Given the description of an element on the screen output the (x, y) to click on. 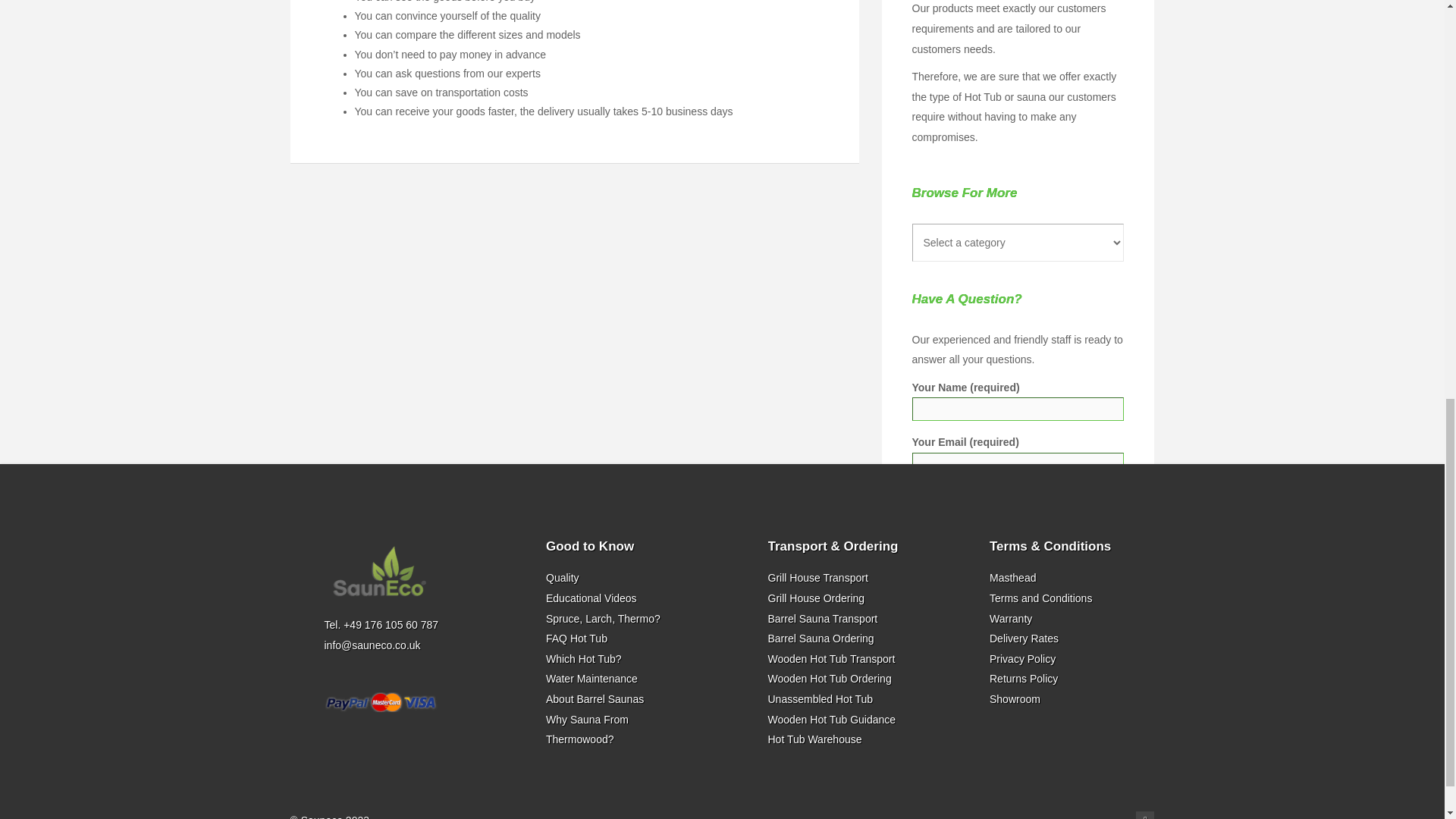
Barrel Sauna Transport (822, 618)
Educational Videos (591, 598)
About Barrel Saunas (594, 698)
email (1144, 815)
Grill House Ordering (815, 598)
Send (940, 747)
Wooden Hot Tub Transport (831, 658)
Spruce, Larch, Thermo? (603, 618)
Grill House Transport (817, 577)
Wooden Hot Tub Guidance (831, 719)
Wooden Hot Tub Ordering (829, 678)
Which Hot Tub? (583, 658)
Quality (562, 577)
Why Sauna From Thermowood? (587, 729)
FAQ Hot Tub (576, 638)
